Given the description of an element on the screen output the (x, y) to click on. 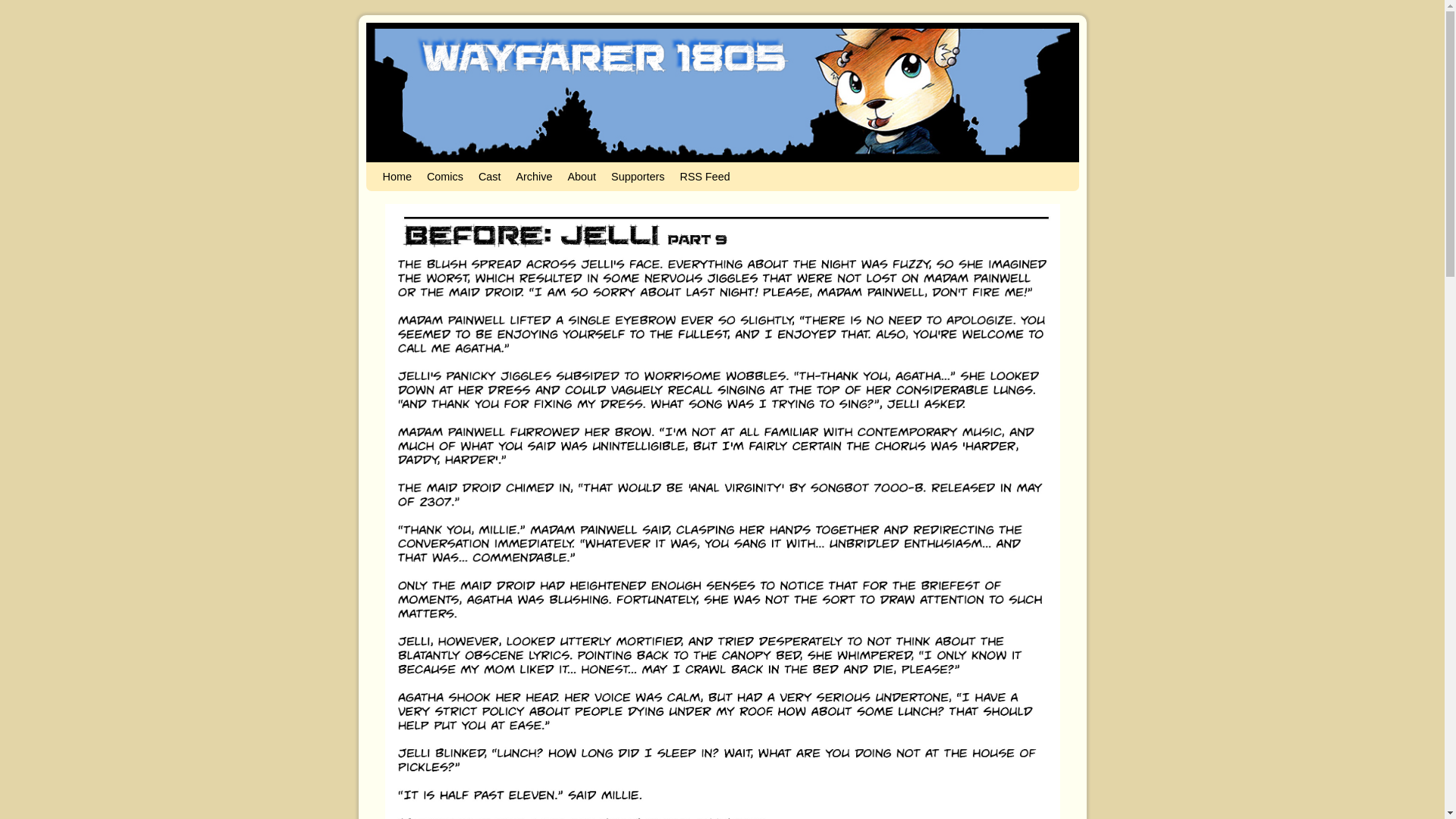
Skip to primary content (408, 169)
Cast (489, 176)
Skip to secondary content (412, 169)
Comics (444, 176)
Supporters (637, 176)
Archive (533, 176)
RSS Feed (703, 176)
About (581, 176)
Home (396, 176)
